Given the description of an element on the screen output the (x, y) to click on. 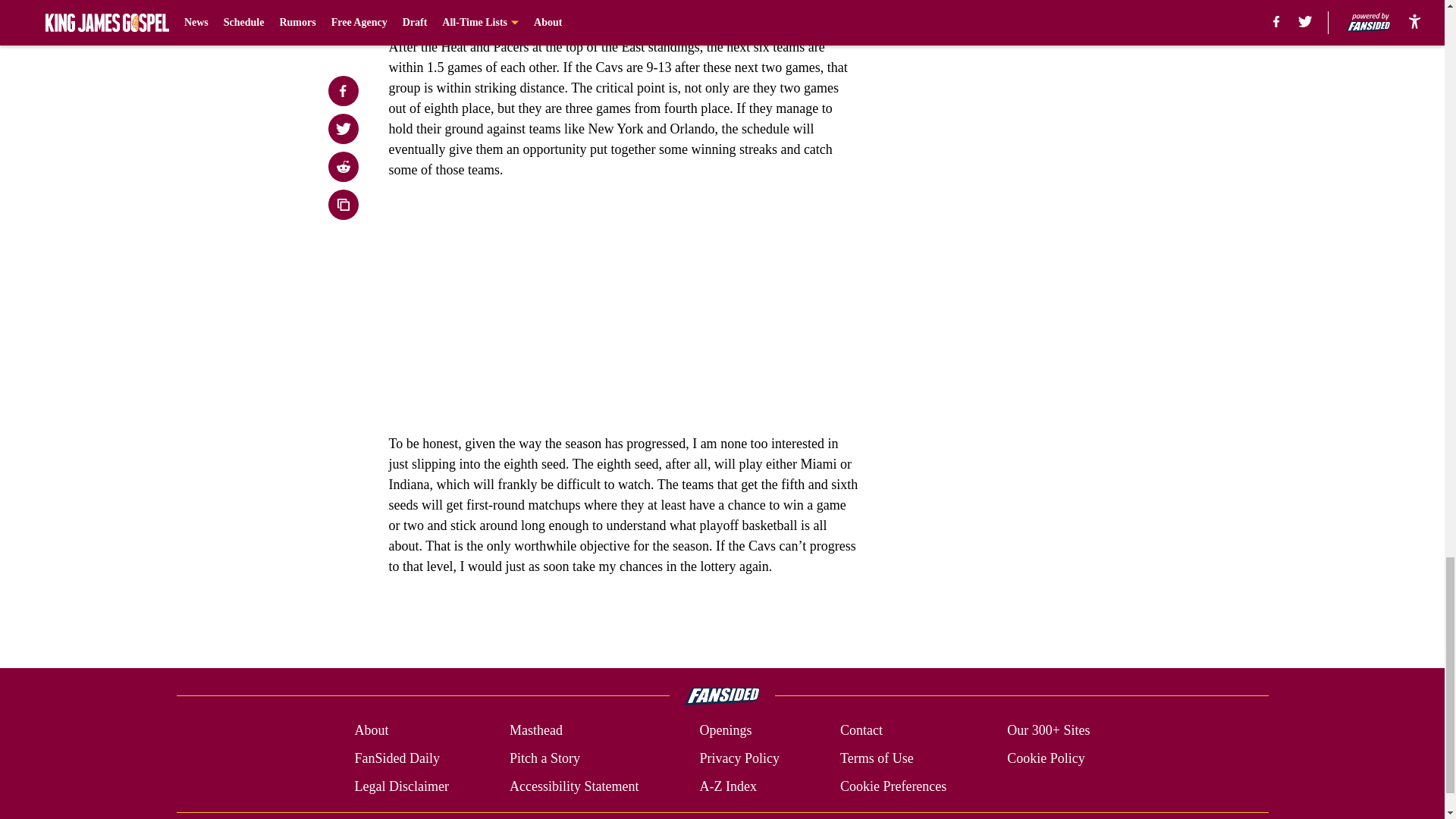
Openings (724, 730)
Privacy Policy (738, 758)
A-Z Index (726, 786)
Contact (861, 730)
Cookie Policy (1045, 758)
FanSided Daily (396, 758)
Masthead (535, 730)
Legal Disclaimer (400, 786)
Terms of Use (877, 758)
Cookie Preferences (893, 786)
Pitch a Story (544, 758)
Accessibility Statement (574, 786)
About (370, 730)
